Given the description of an element on the screen output the (x, y) to click on. 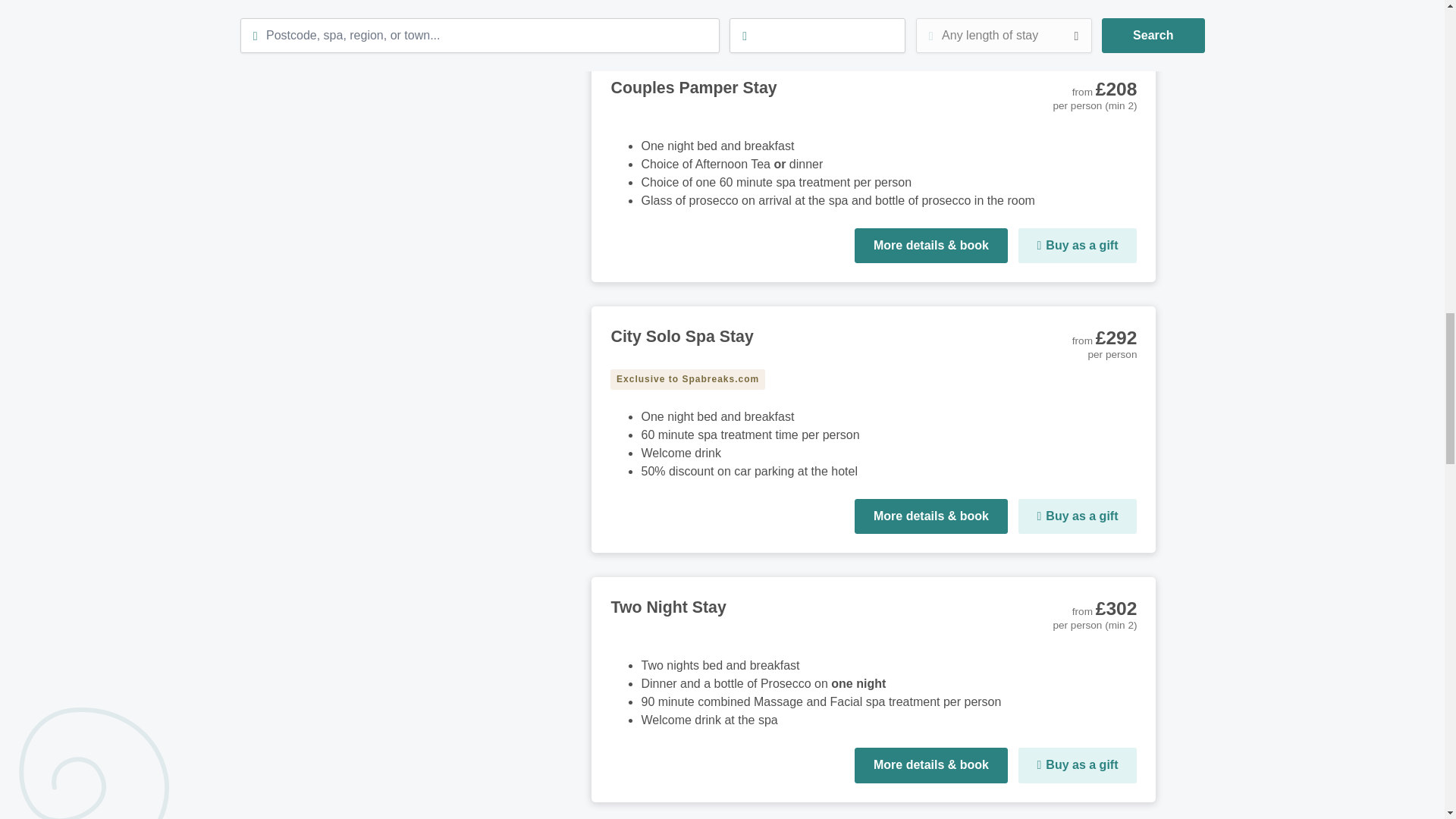
Buy as a gift (1077, 515)
Buy as a gift (1077, 7)
Buy as a gift (1077, 764)
Buy as a gift (1077, 245)
